Given the description of an element on the screen output the (x, y) to click on. 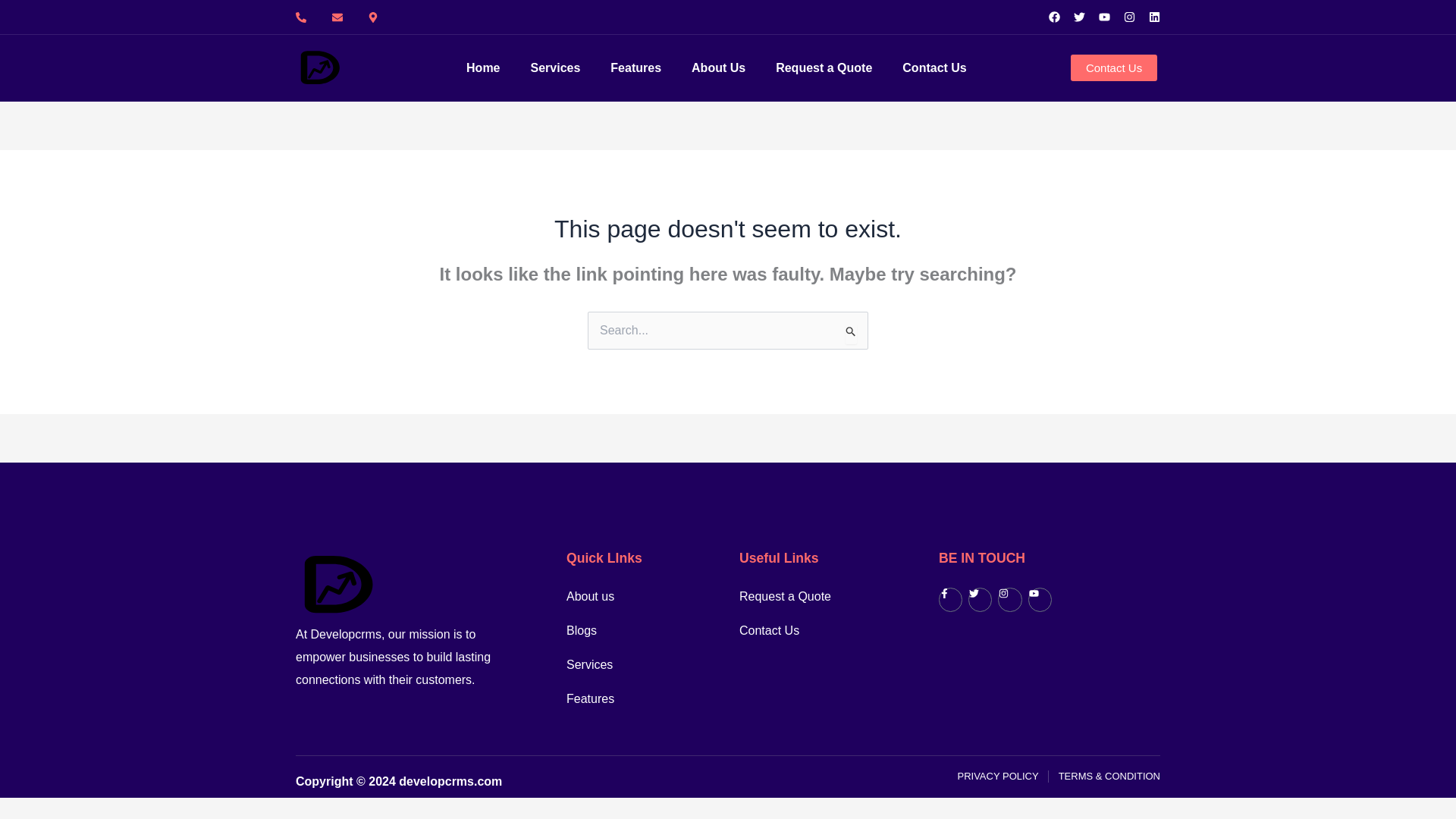
Search (850, 332)
Home (482, 68)
Contact Us (804, 630)
Twitter (979, 599)
Youtube (1039, 599)
Youtube (1104, 16)
About Us (718, 68)
Linkedin (1154, 16)
Search (850, 332)
Facebook-f (950, 599)
Request a Quote (804, 596)
Blogs (631, 630)
Search (850, 332)
Contact Us (934, 68)
Facebook (1053, 16)
